Given the description of an element on the screen output the (x, y) to click on. 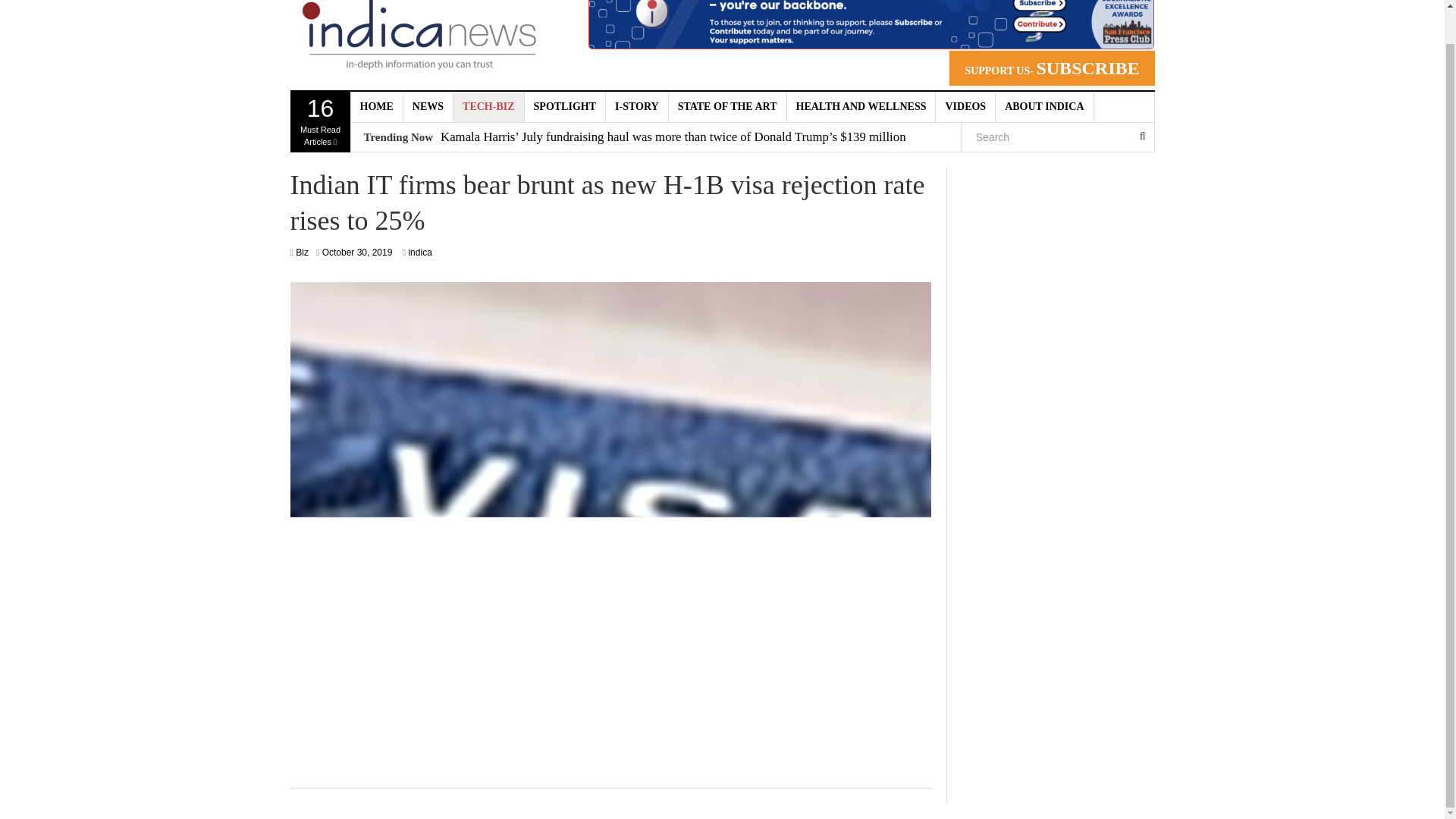
SPOTLIGHT (564, 106)
HOME (376, 106)
VIDEOS (965, 106)
STATE OF THE ART (727, 106)
NEWS (427, 106)
HEALTH AND WELLNESS (861, 106)
I-STORY (636, 106)
October 30, 2019 (319, 121)
Biz (357, 252)
